Given the description of an element on the screen output the (x, y) to click on. 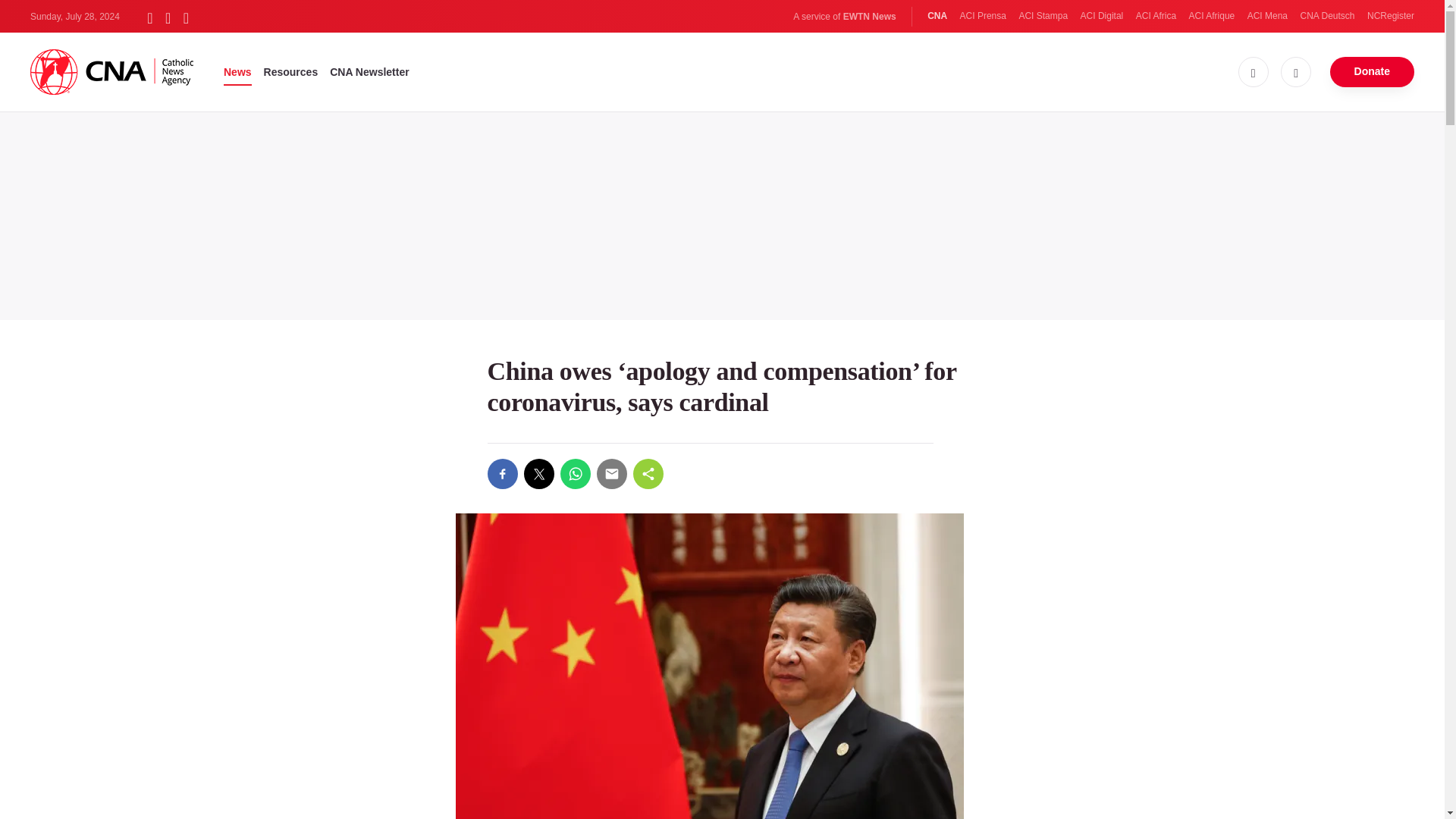
ACI Digital (1102, 16)
ACI Afrique (1211, 16)
ACI Prensa (982, 16)
News (237, 71)
ACI Mena (1267, 16)
EWTN News (869, 16)
CNA (937, 16)
ACI Stampa (1042, 16)
Resources (290, 71)
EWTN News (869, 16)
NCRegister (1390, 16)
CNA Deutsch (1327, 16)
ACI Africa (1155, 16)
